Given the description of an element on the screen output the (x, y) to click on. 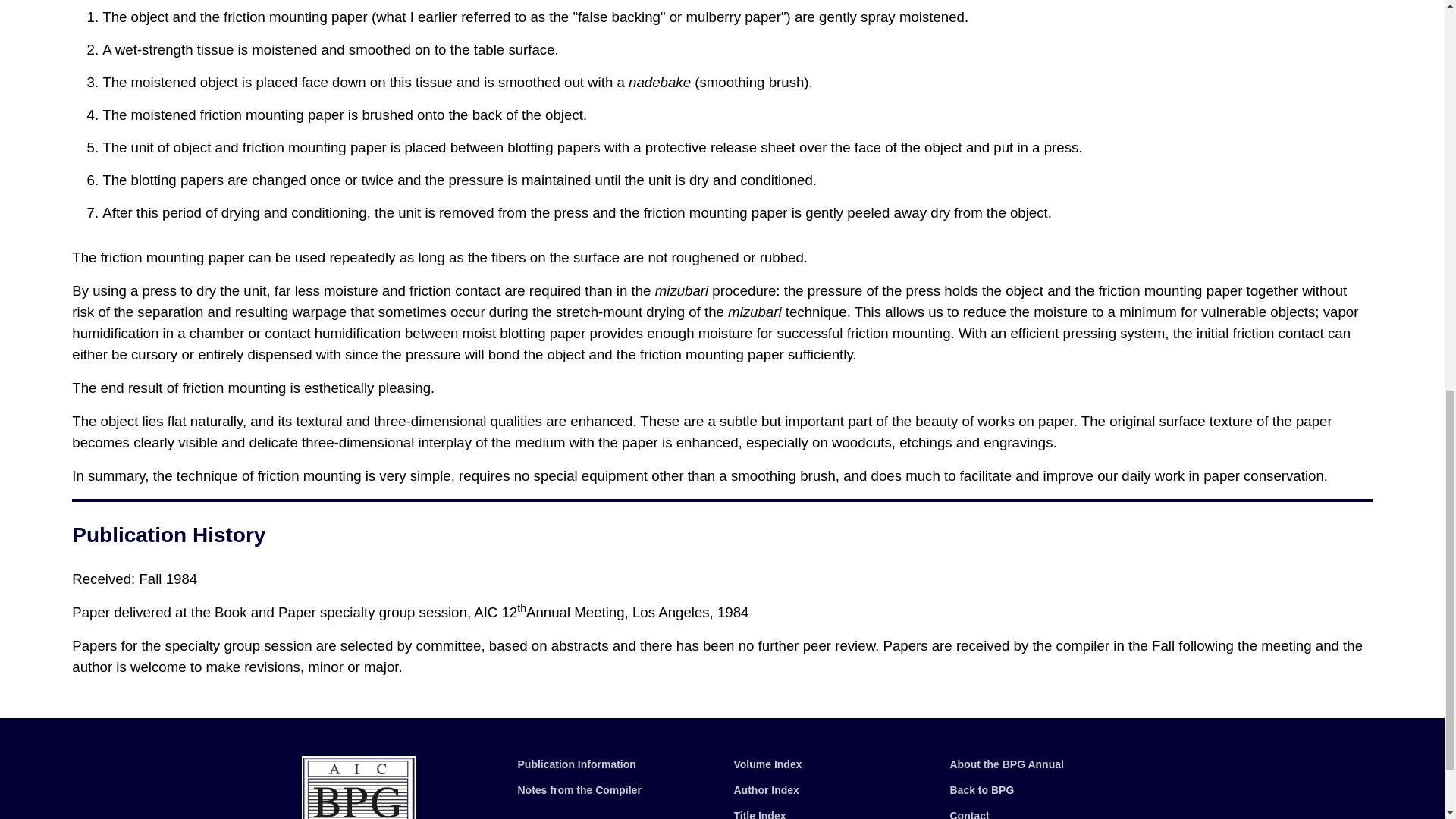
Back to BPG (981, 789)
Publication Information (575, 764)
Volume Index (767, 764)
Title Index (759, 814)
Notes from the Compiler (578, 789)
Author Index (766, 789)
About the BPG Annual (1005, 764)
Contact (968, 814)
